Given the description of an element on the screen output the (x, y) to click on. 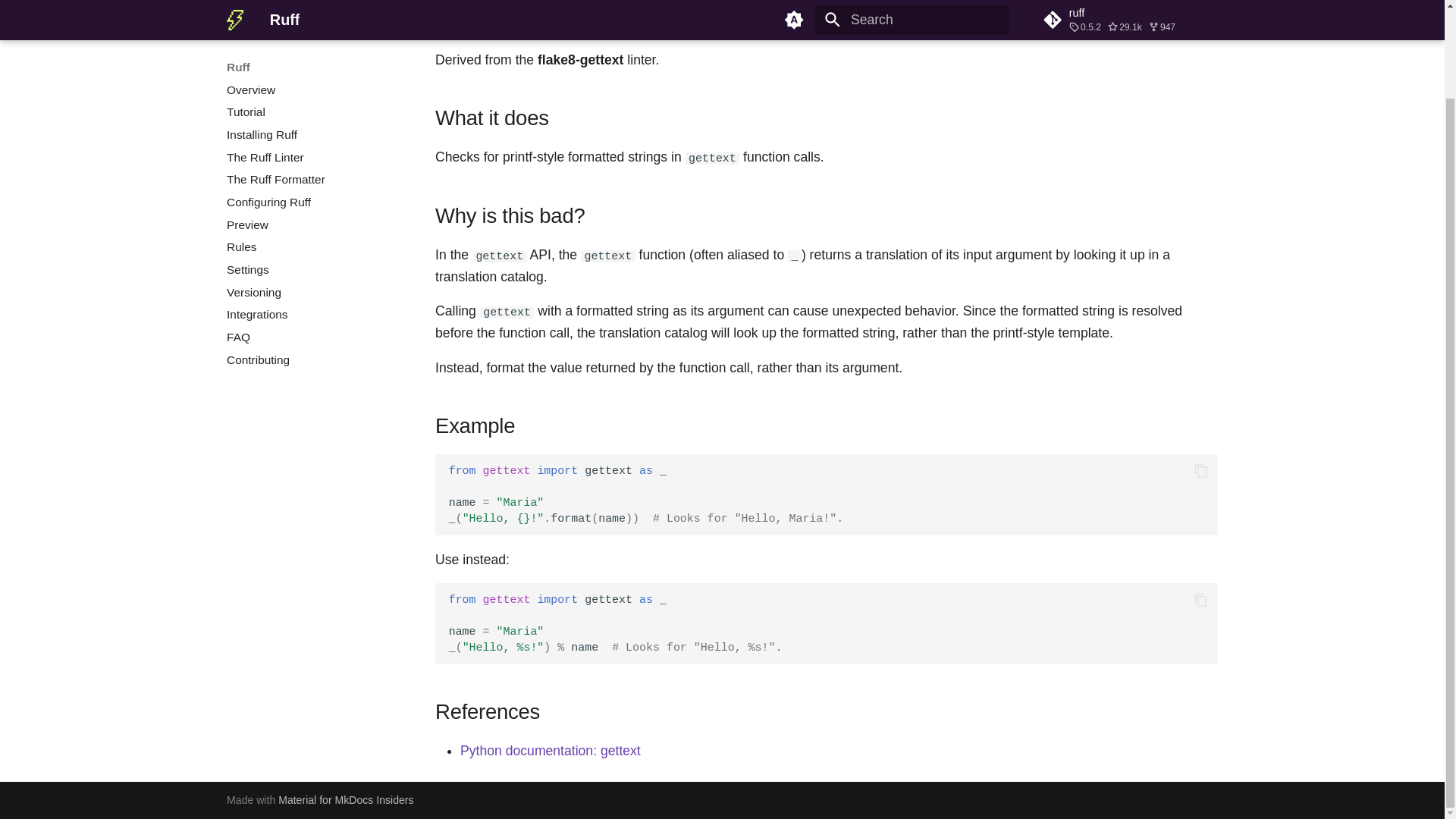
Copy to clipboard (1201, 599)
Versioning (312, 216)
Tutorial (312, 36)
Preview (312, 149)
Copy to clipboard (1201, 470)
The Ruff Linter (312, 81)
Installing Ruff (312, 58)
Rules (312, 171)
The Ruff Formatter (312, 103)
FAQ (312, 261)
Material for MkDocs Insiders (345, 799)
Configuring Ruff (312, 126)
Python documentation: gettext (550, 750)
Integrations (312, 238)
Settings (312, 193)
